Given the description of an element on the screen output the (x, y) to click on. 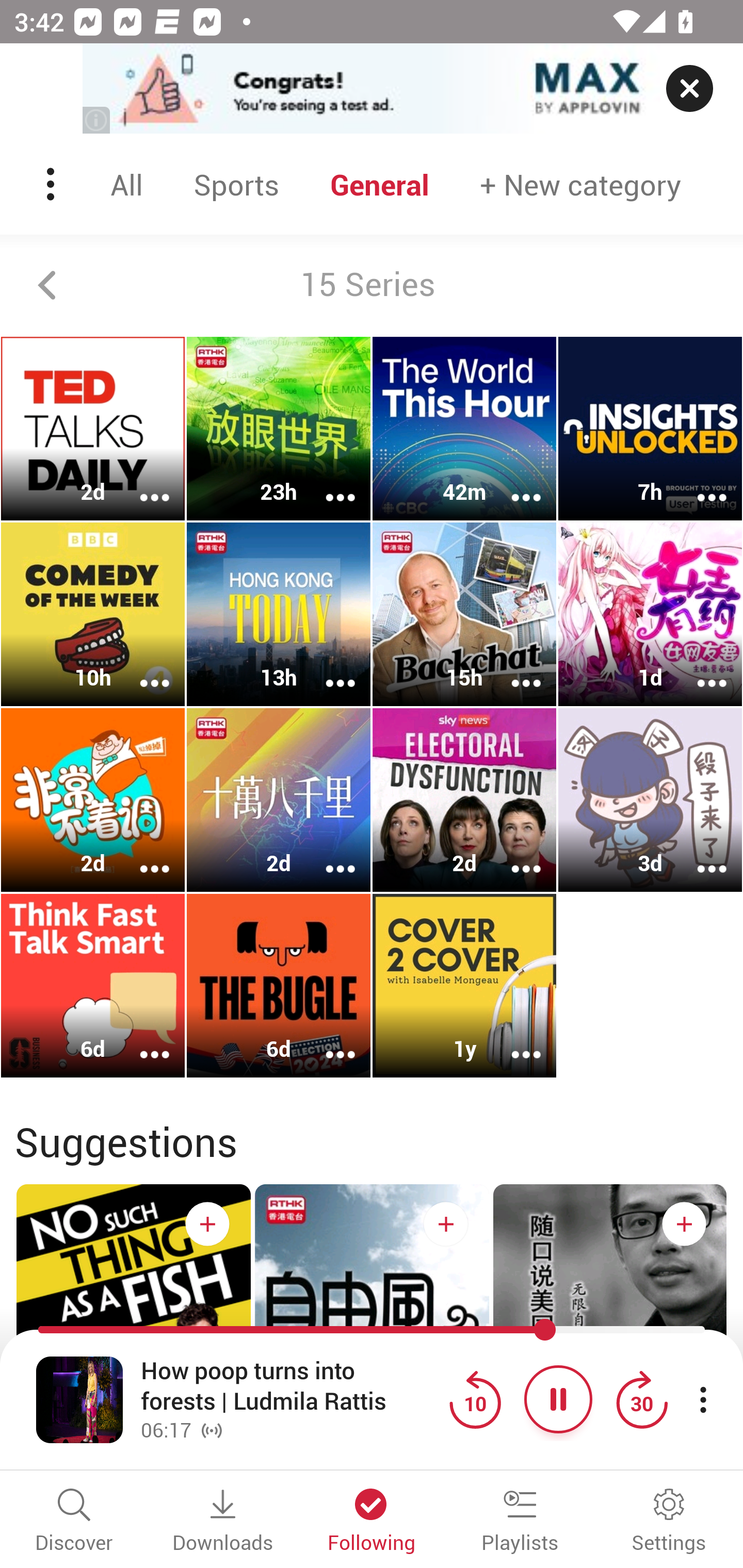
app-monetization (371, 88)
(i) (96, 119)
Menu (52, 184)
All (128, 184)
Sports (235, 184)
General (379, 184)
New category + New category (580, 184)
15 Series (371, 285)
TED Talks Daily 2d More options More options (92, 428)
放眼世界 23h More options More options (278, 428)
The World This Hour 42m More options More options (464, 428)
Insights Unlocked 7h More options More options (650, 428)
More options (141, 484)
More options (326, 484)
More options (512, 484)
More options (698, 484)
Comedy of the Week 10h More options More options (92, 614)
Hong Kong Today 13h More options More options (278, 614)
Backchat 15h More options More options (464, 614)
女王有药丨爆笑脱口秀 1d More options More options (650, 614)
More options (141, 669)
More options (326, 669)
More options (512, 669)
More options (698, 669)
非常不着调 2d More options More options (92, 799)
十萬八千里 2d More options More options (278, 799)
Electoral Dysfunction 2d More options More options (464, 799)
段子来了 3d More options More options (650, 799)
More options (141, 856)
More options (326, 856)
More options (512, 856)
More options (698, 856)
The Bugle 6d More options More options (278, 985)
Cover 2 Cover 1y More options More options (464, 985)
More options (141, 1041)
More options (326, 1041)
More options (512, 1041)
自由风自由PHONE 自由风自由PHONE Subscribe button (371, 1339)
随口说美国 随口说美国 Subscribe button (609, 1339)
Subscribe button (207, 1223)
Subscribe button (446, 1223)
Subscribe button (684, 1223)
Open fullscreen player (79, 1399)
More player controls (703, 1399)
How poop turns into forests | Ludmila Rattis (290, 1385)
Pause button (558, 1398)
Jump back (475, 1399)
Jump forward (641, 1399)
Discover (74, 1521)
Downloads (222, 1521)
Following (371, 1521)
Playlists (519, 1521)
Settings (668, 1521)
